Given the description of an element on the screen output the (x, y) to click on. 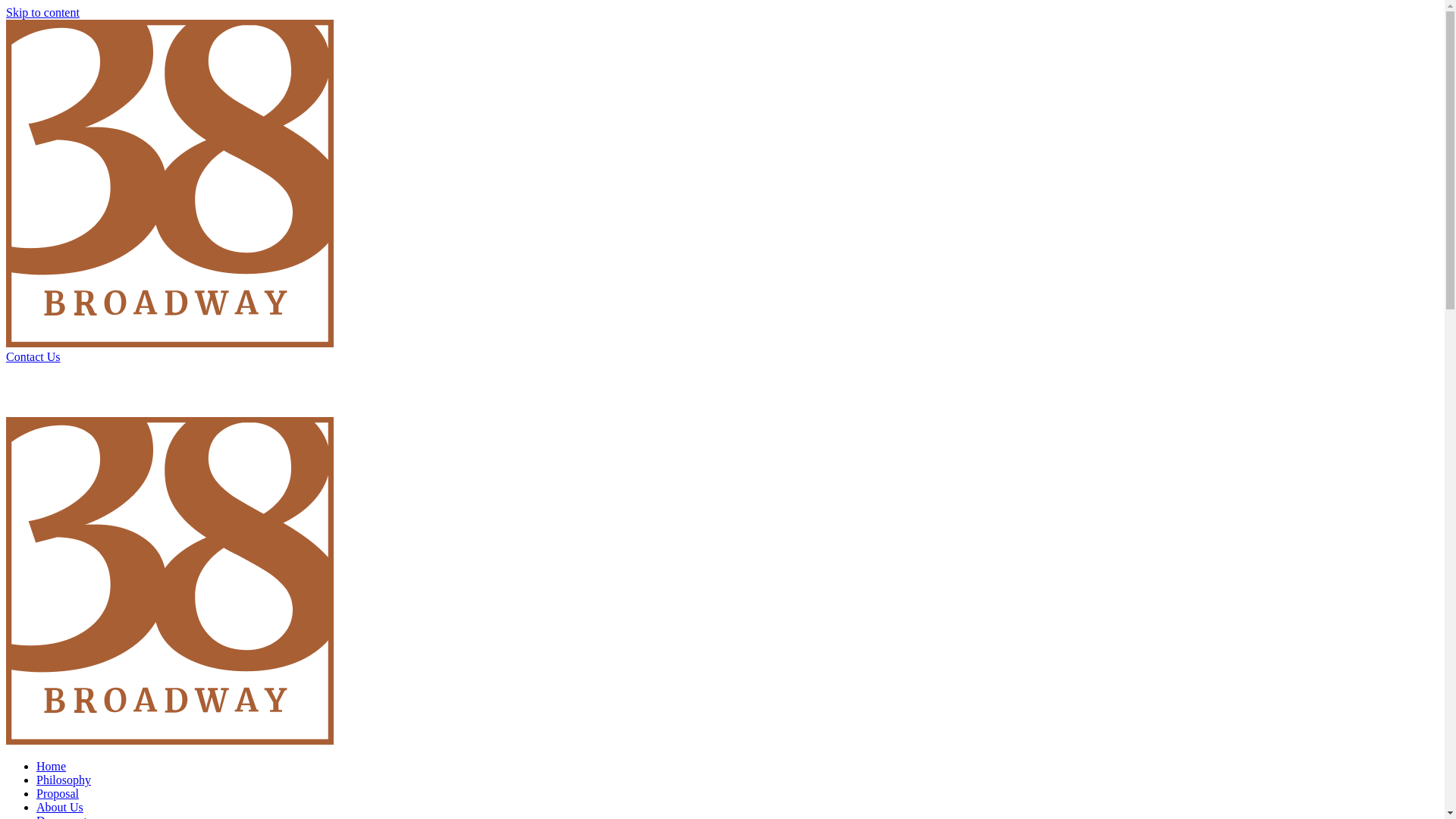
Contact Us Element type: text (722, 363)
Philosophy Element type: text (63, 779)
About Us Element type: text (59, 806)
Proposal Element type: text (57, 793)
Home Element type: text (50, 765)
Skip to content Element type: text (42, 12)
